Given the description of an element on the screen output the (x, y) to click on. 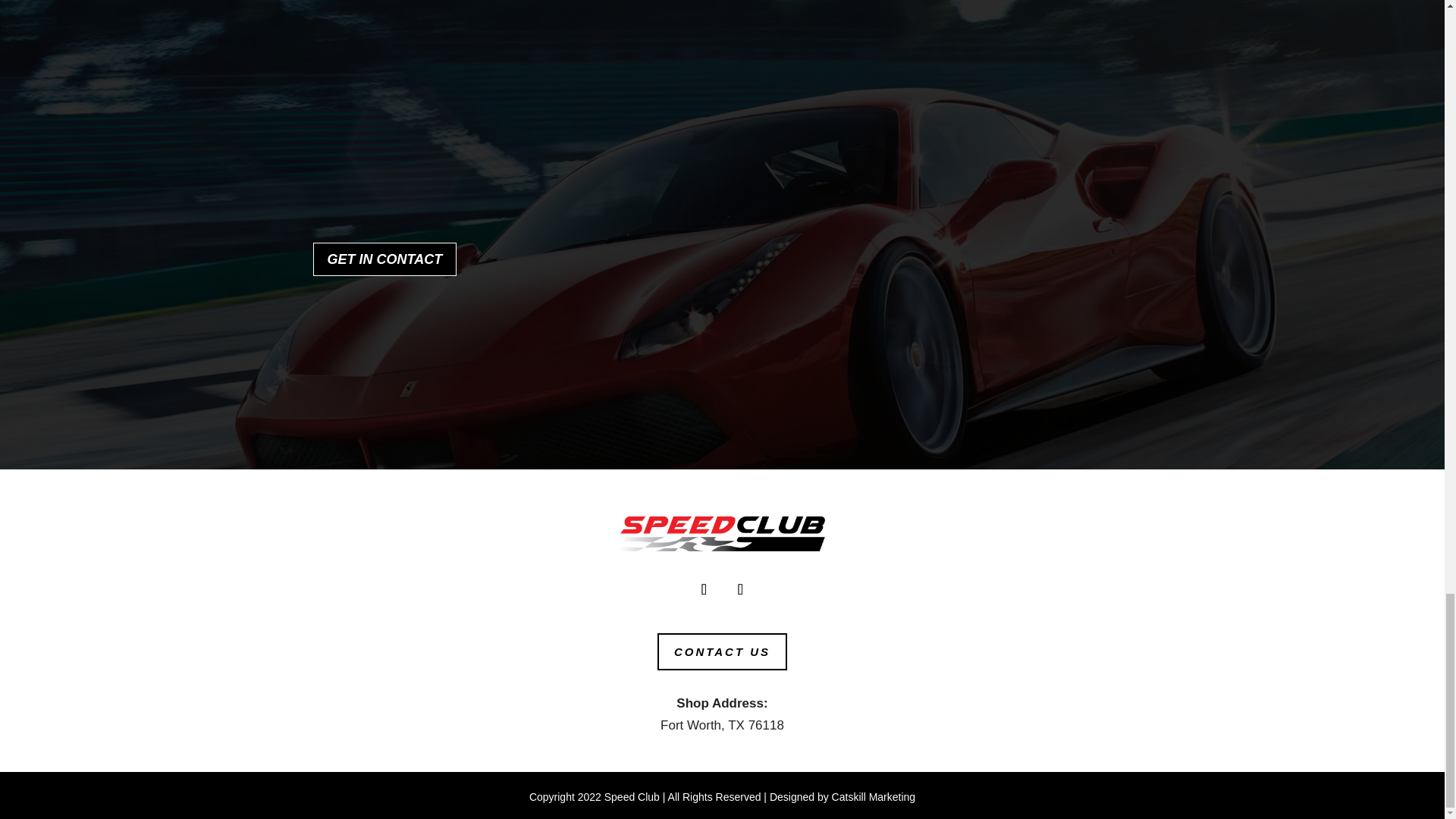
Follow on Instagram (740, 589)
Follow on Facebook (703, 589)
